Given the description of an element on the screen output the (x, y) to click on. 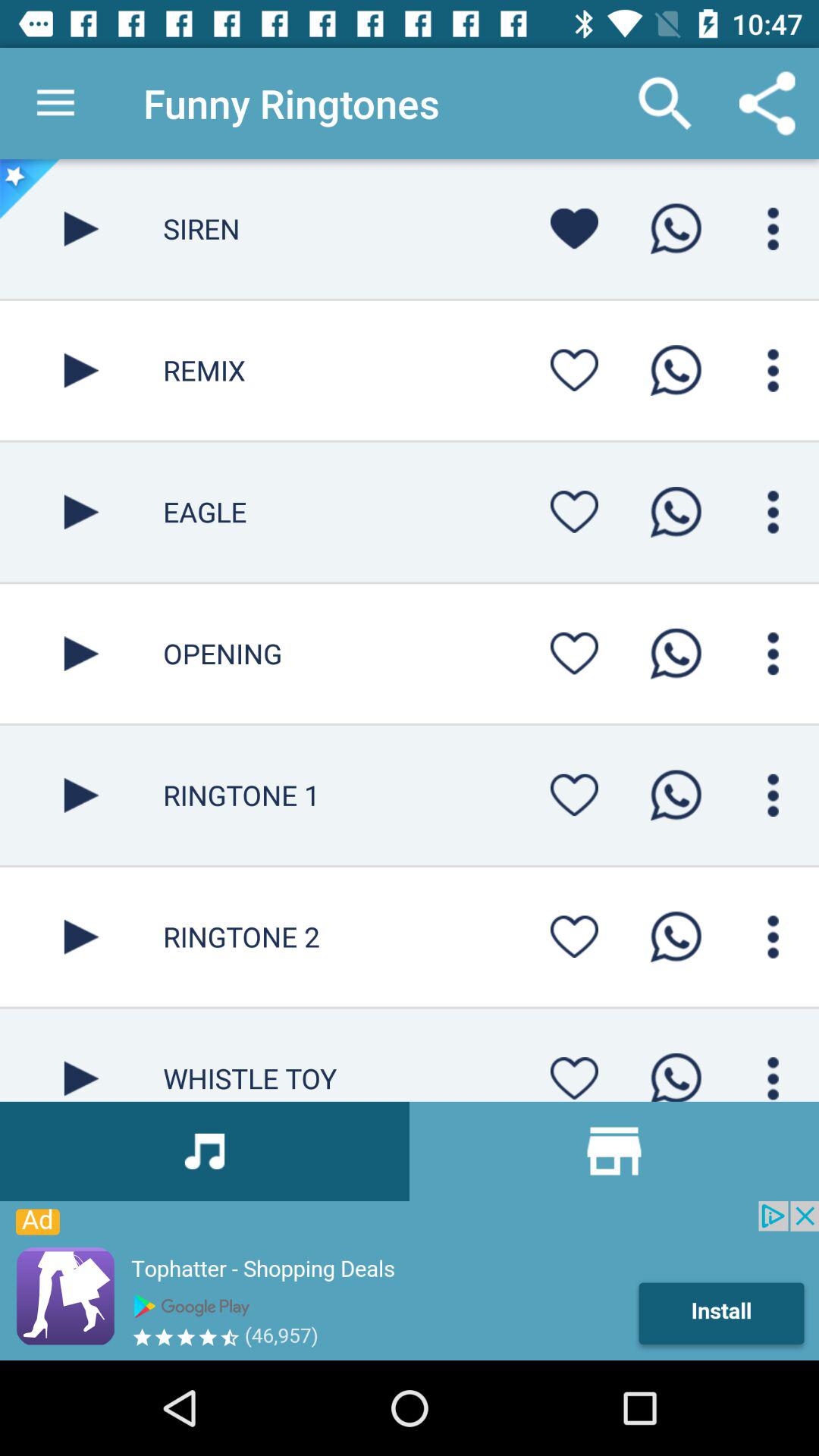
play (81, 370)
